Given the description of an element on the screen output the (x, y) to click on. 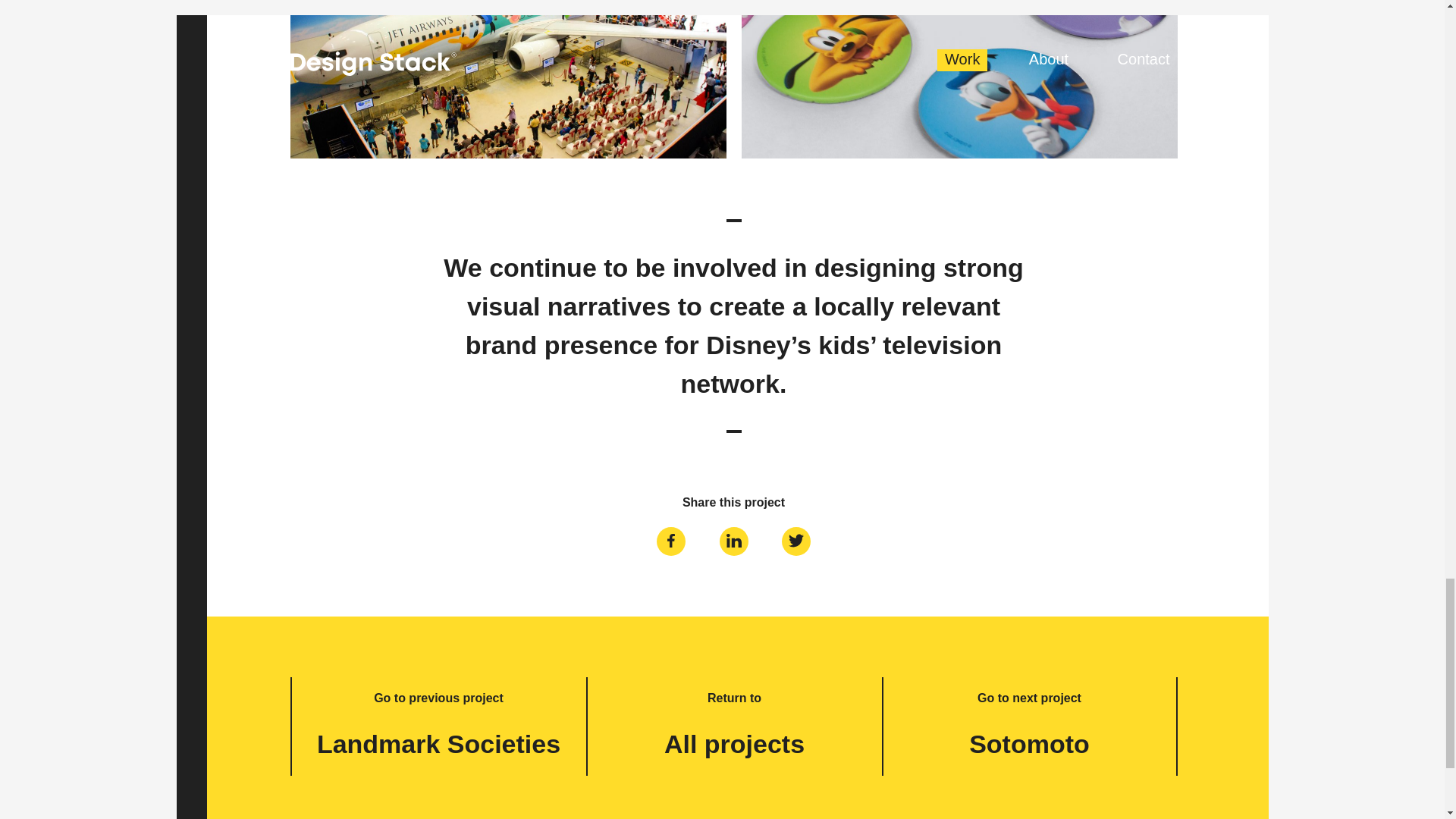
Landmark Societies (438, 743)
Linkedin (733, 540)
Twitter (796, 540)
All projects (734, 743)
Sotomoto (1029, 743)
